Given the description of an element on the screen output the (x, y) to click on. 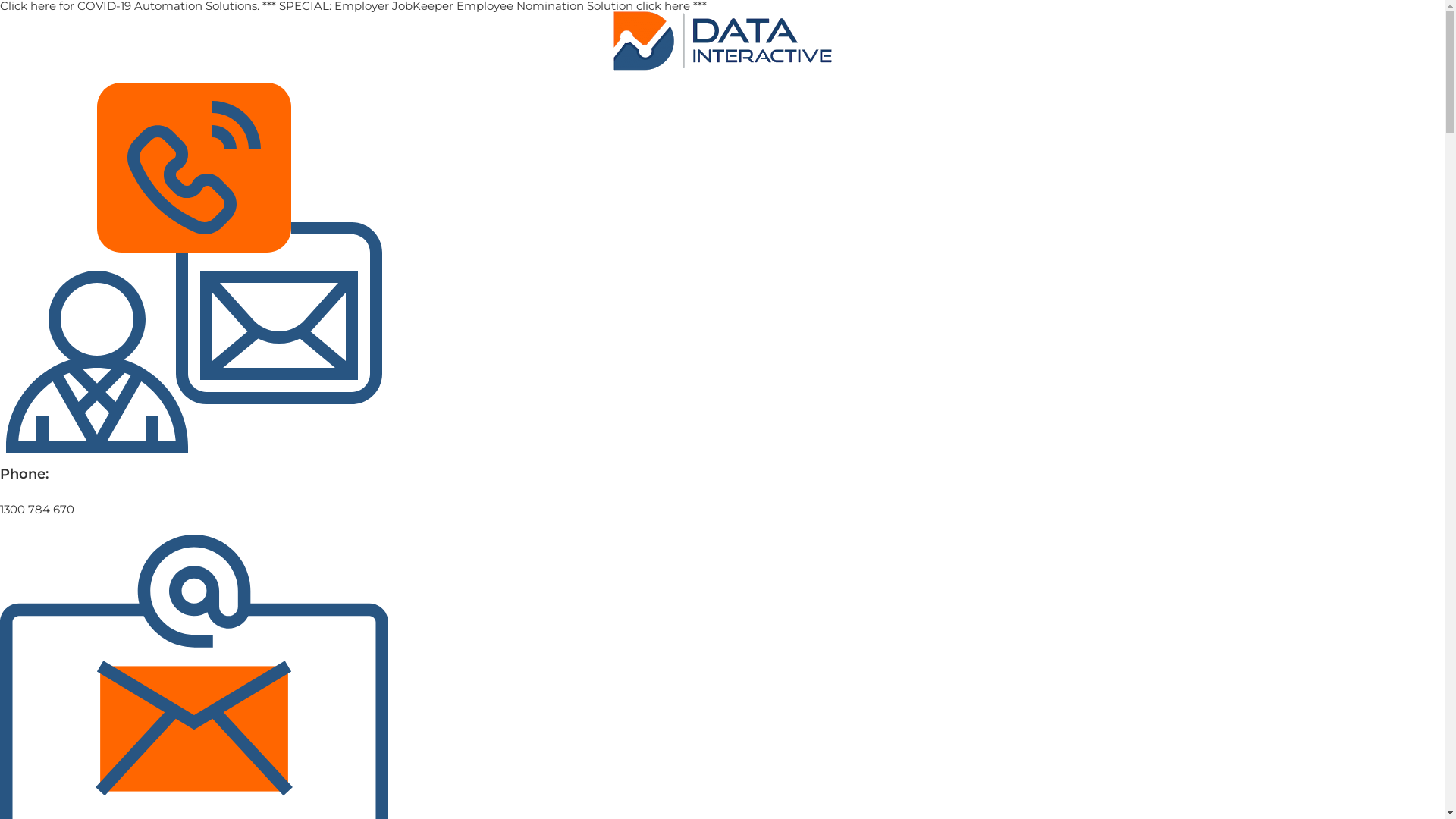
Phone: Element type: text (24, 473)
